Given the description of an element on the screen output the (x, y) to click on. 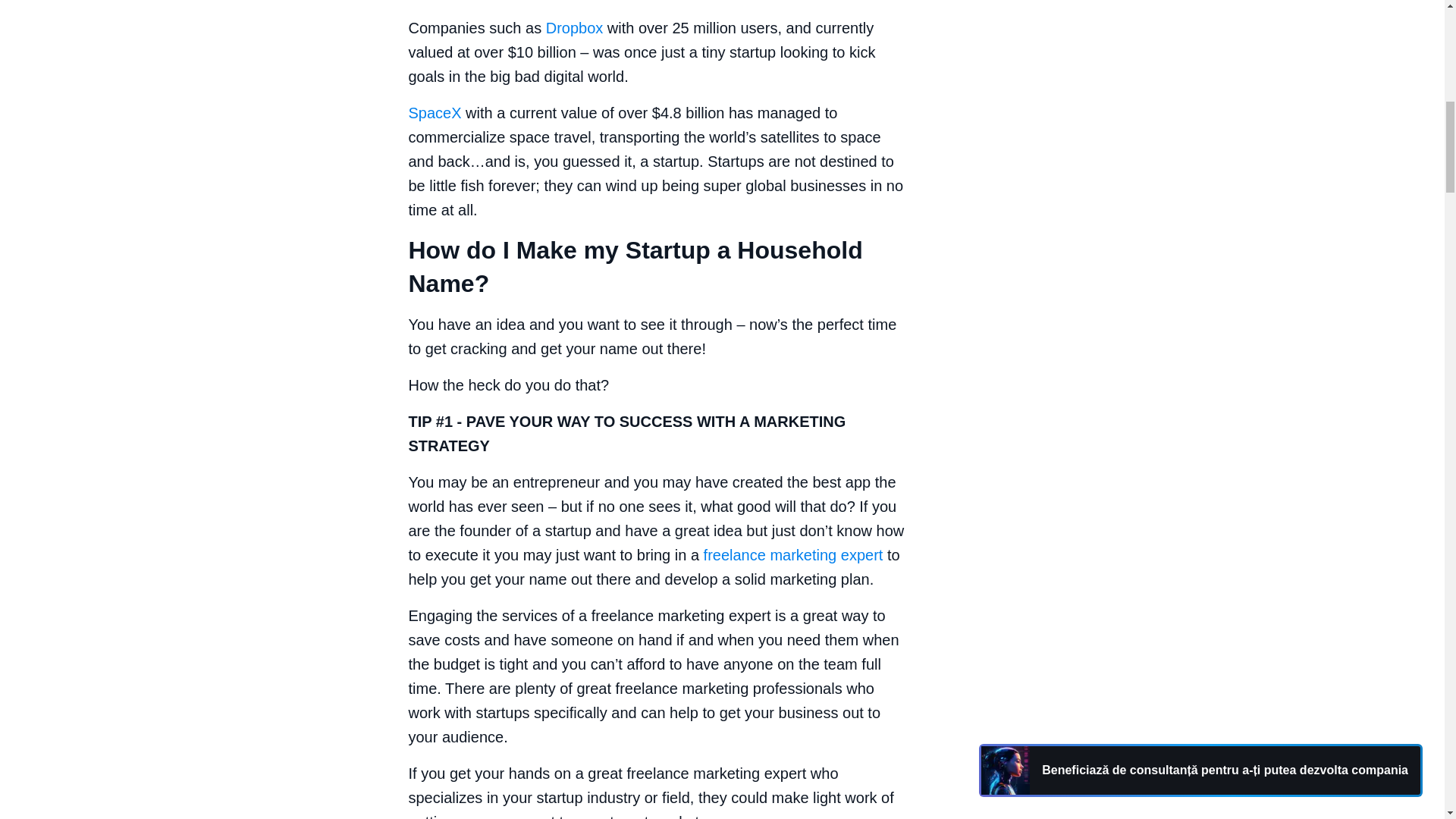
freelance marketing expert (793, 555)
SpaceX (434, 112)
Dropbox (575, 27)
